Given the description of an element on the screen output the (x, y) to click on. 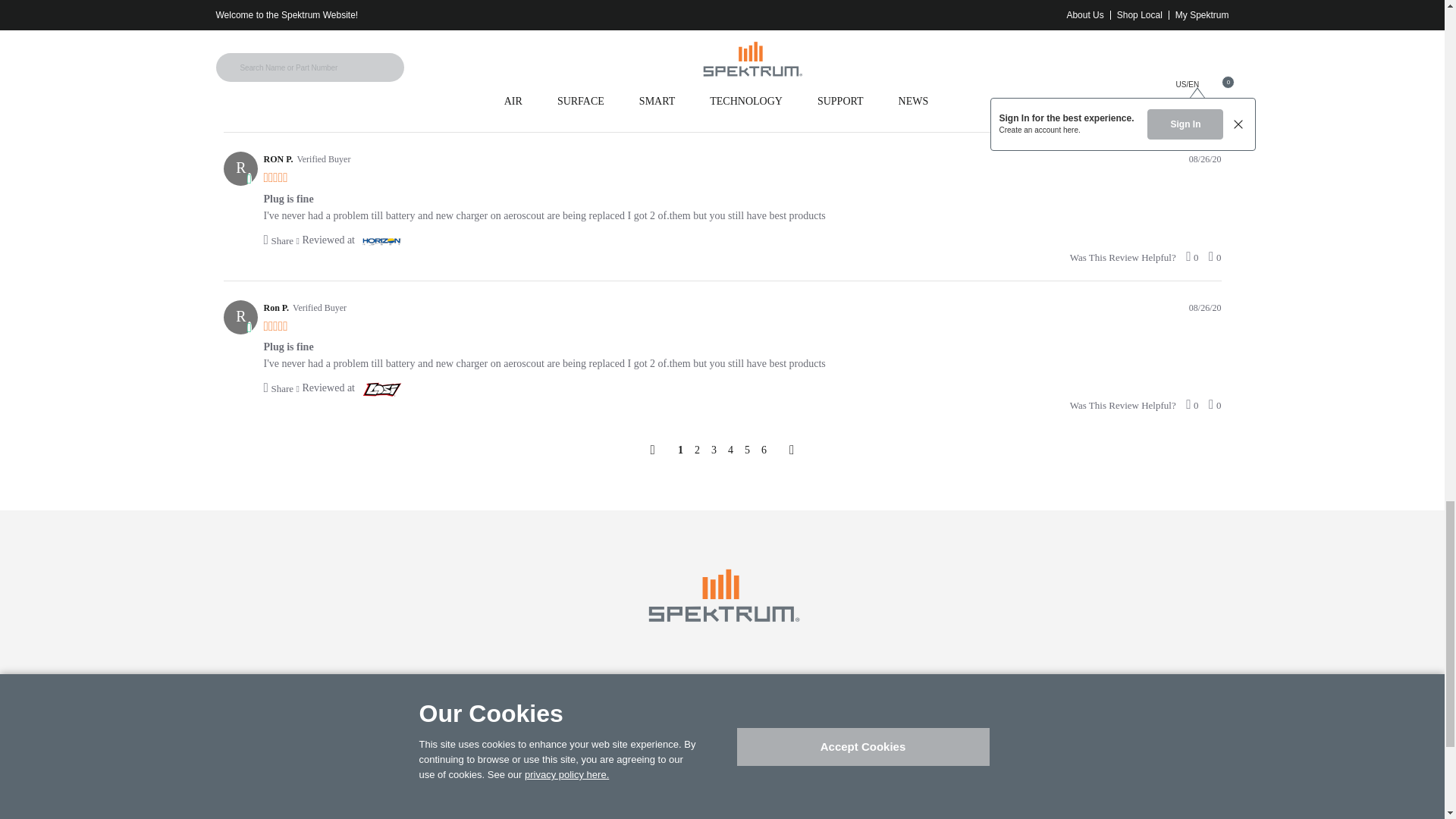
Spektrum Home (721, 595)
